Given the description of an element on the screen output the (x, y) to click on. 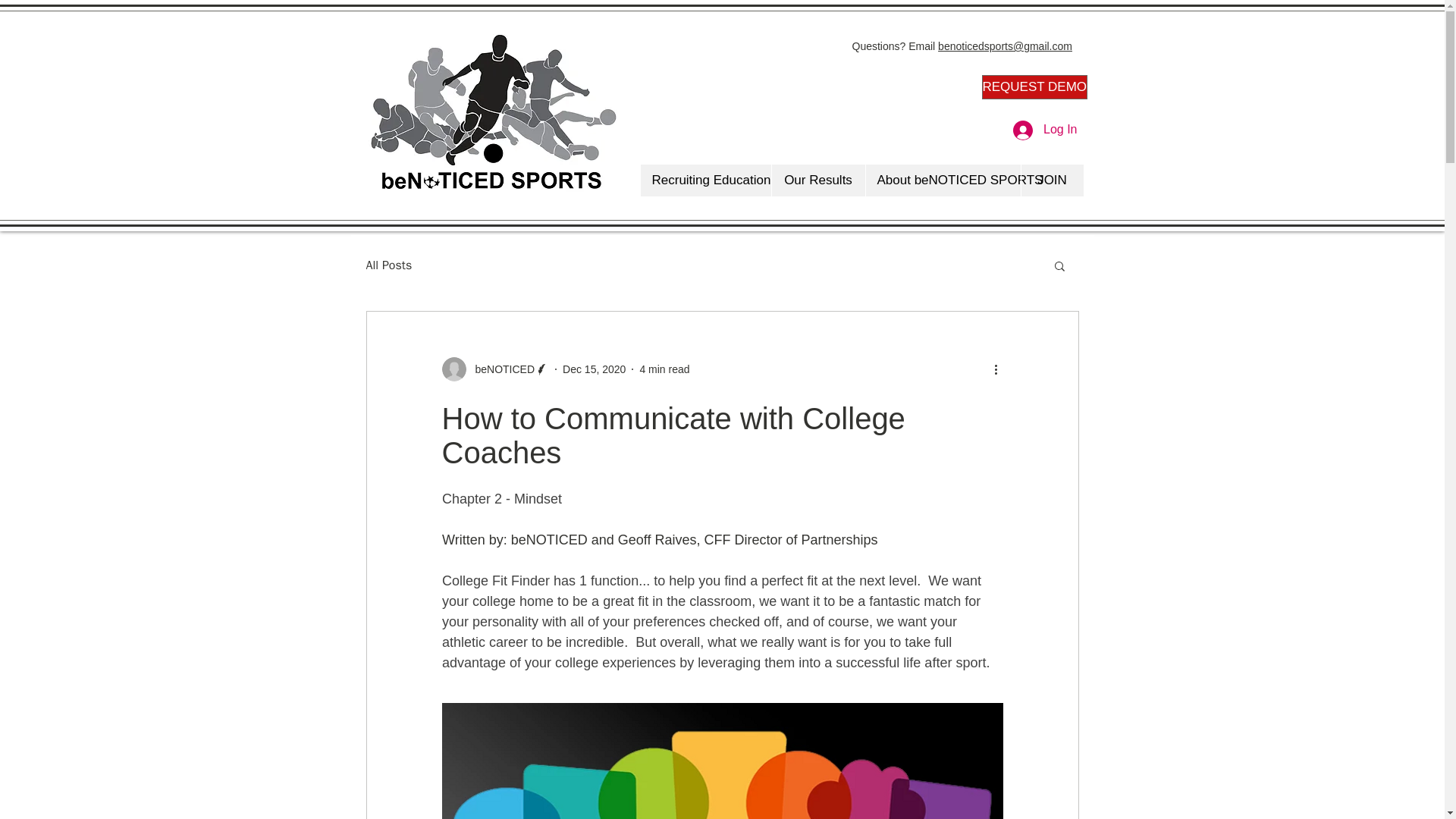
beNOTICED (499, 368)
beNOTICED (494, 369)
All Posts (388, 265)
Our Results (817, 180)
REQUEST DEMO (1034, 87)
Log In (1045, 129)
JOIN (1051, 180)
About beNOTICED SPORTS (942, 180)
Recruiting Education (705, 180)
4 min read (663, 368)
Partner Club Player Login (1007, 149)
Dec 15, 2020 (594, 368)
